Given the description of an element on the screen output the (x, y) to click on. 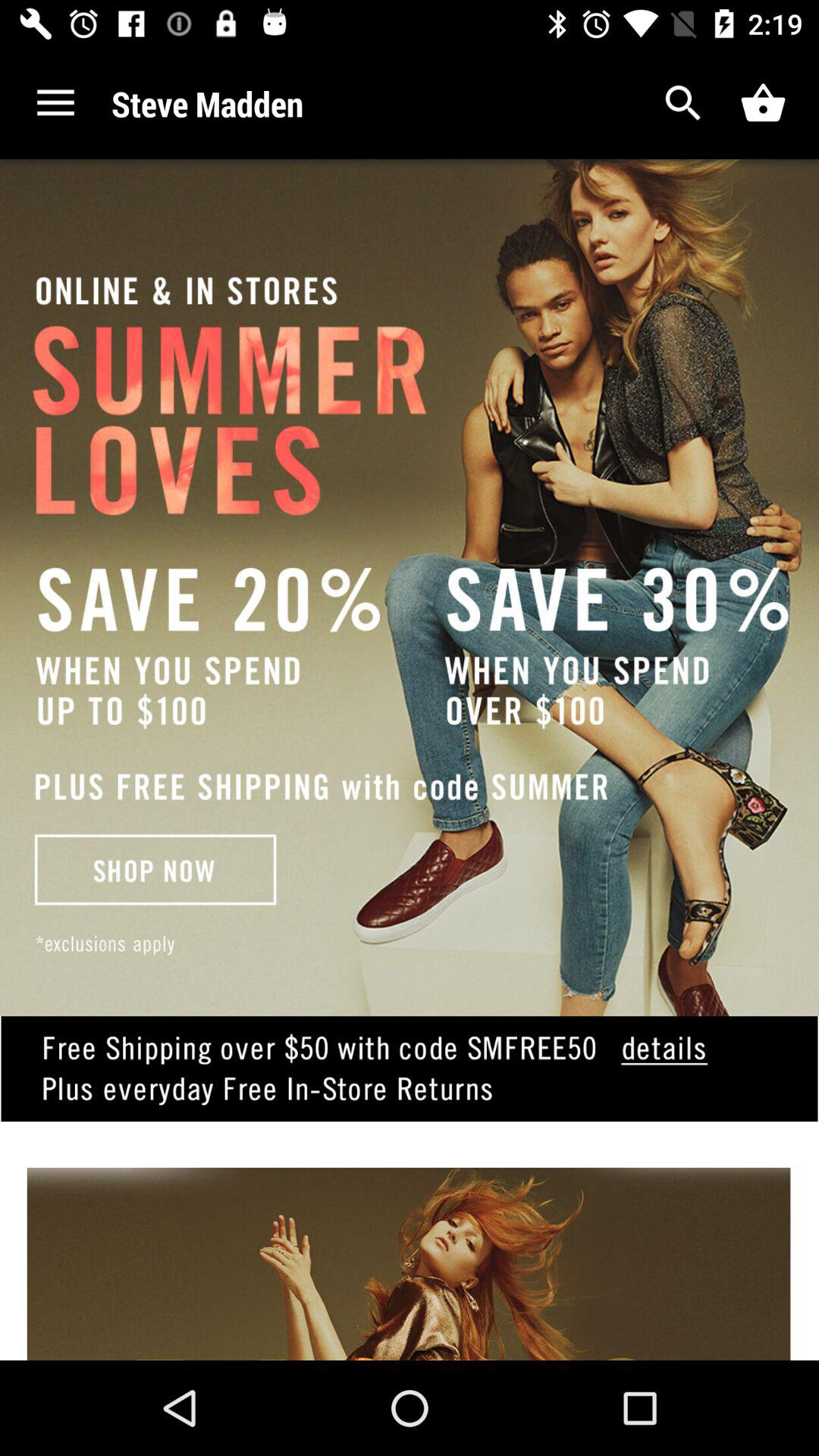
view details (409, 1091)
